Given the description of an element on the screen output the (x, y) to click on. 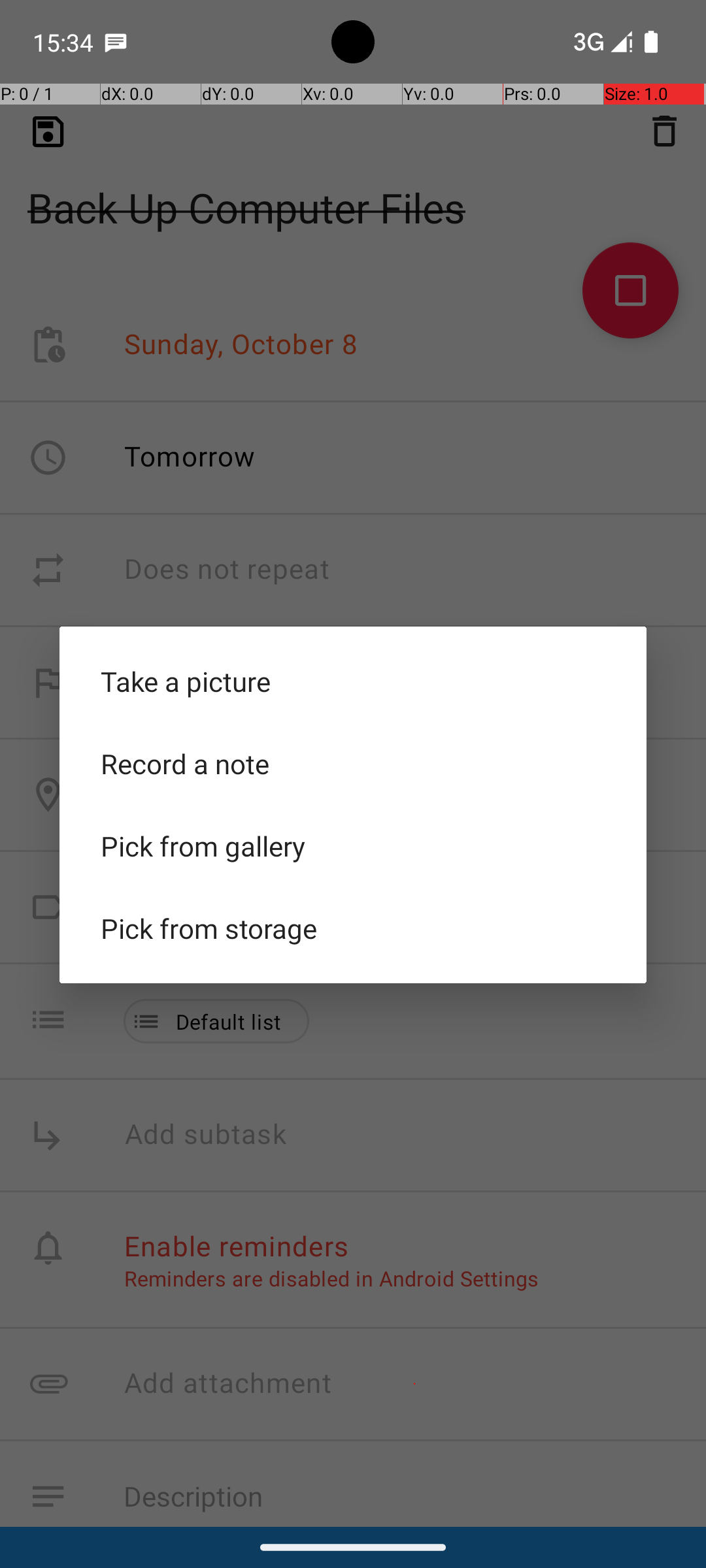
Take a picture Element type: android.widget.TextView (352, 681)
Record a note Element type: android.widget.TextView (352, 763)
Pick from gallery Element type: android.widget.TextView (352, 845)
Pick from storage Element type: android.widget.TextView (352, 928)
